Given the description of an element on the screen output the (x, y) to click on. 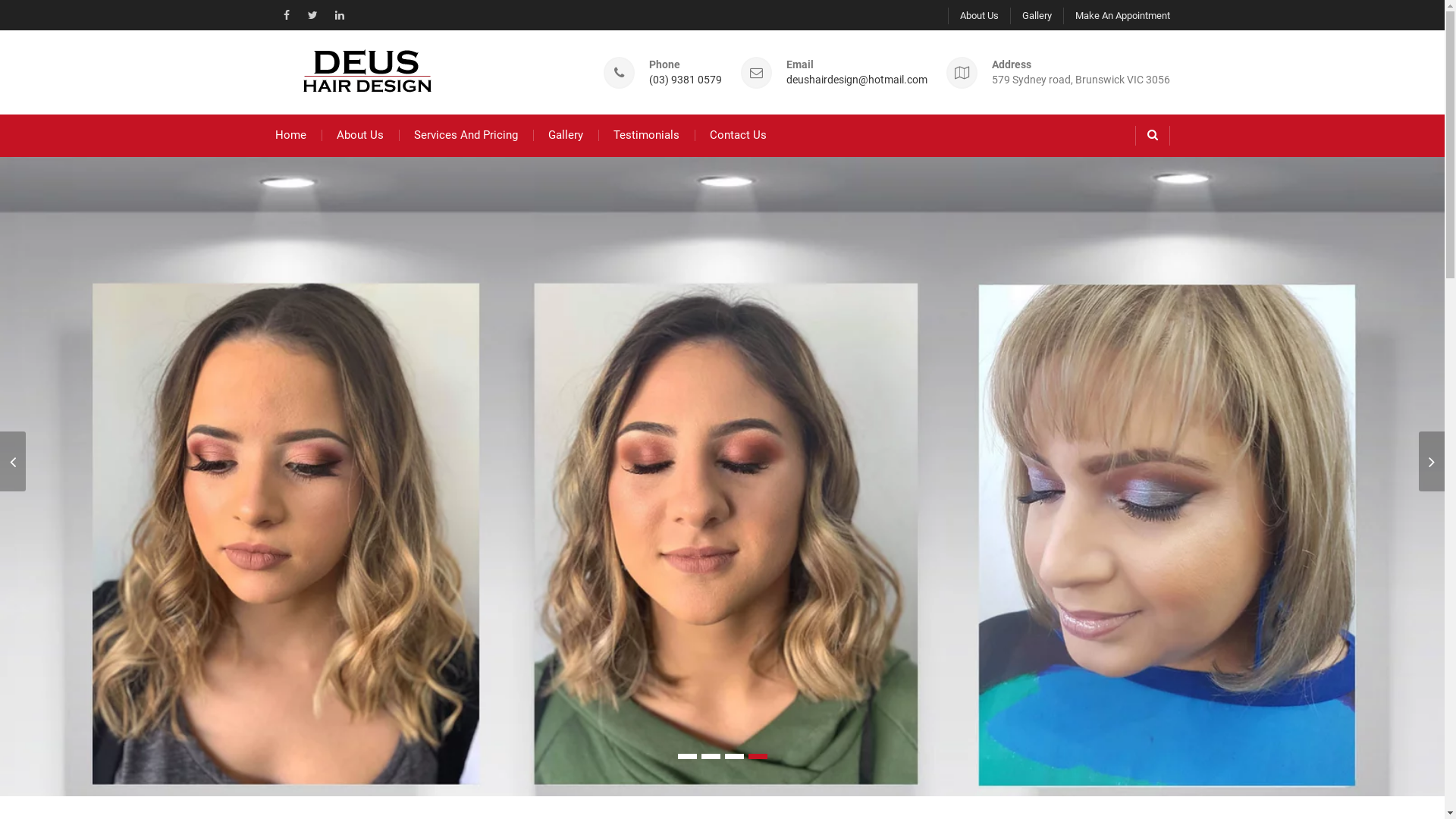
Home Element type: text (289, 135)
About Us Element type: text (972, 15)
Services And Pricing Element type: text (465, 135)
About Us Element type: text (359, 135)
Gallery Element type: text (564, 135)
(03) 9381 0579 Element type: text (685, 79)
Linkedin Element type: text (338, 14)
Testimonials Element type: text (645, 135)
Contact Us Element type: text (737, 135)
Facebook Element type: text (285, 14)
Gallery Element type: text (1030, 15)
Make An Appointment Element type: text (1116, 15)
deushairdesign@hotmail.com Element type: text (855, 79)
Twitter Element type: text (312, 14)
